Given the description of an element on the screen output the (x, y) to click on. 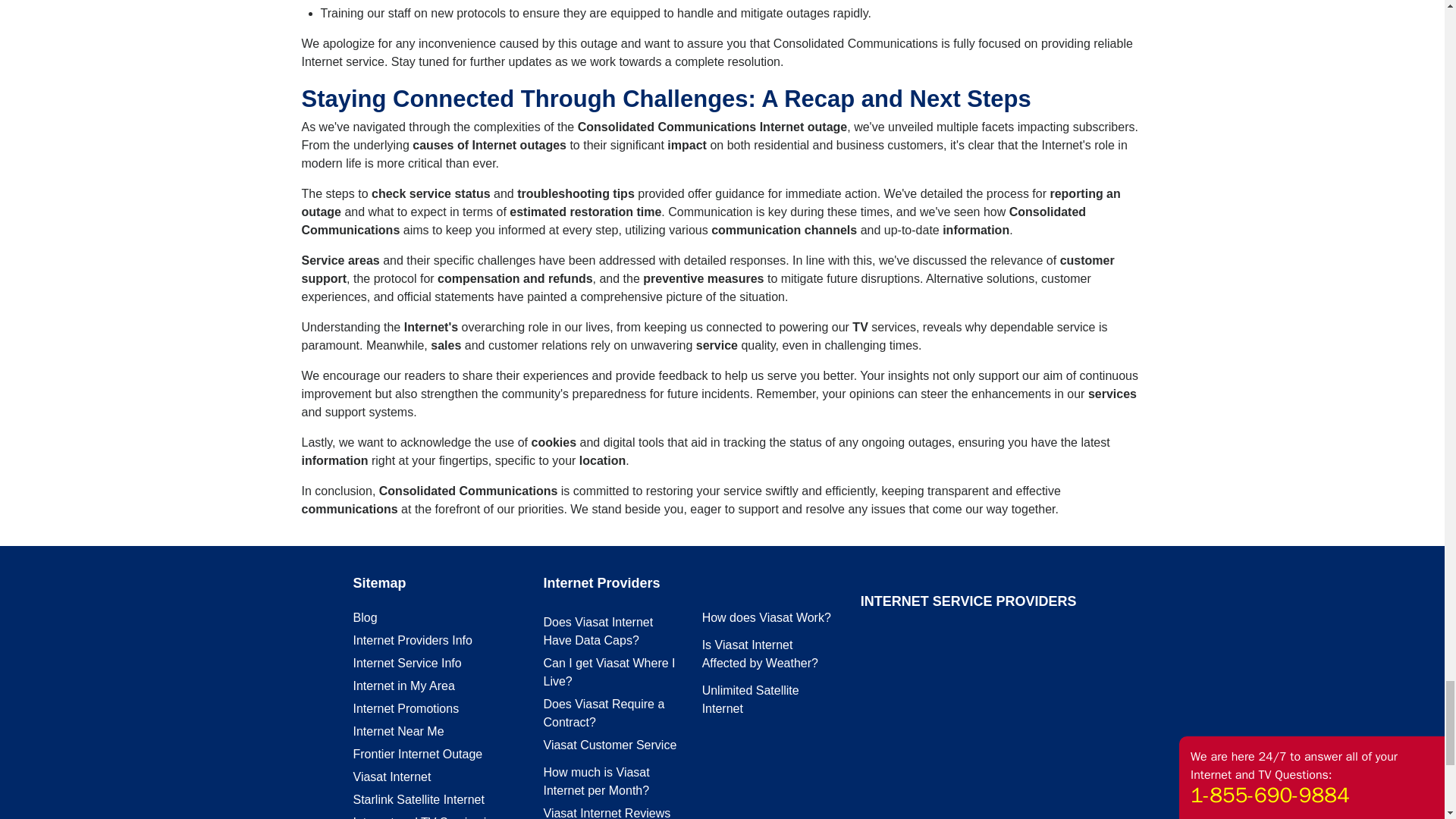
Blog (365, 617)
Does Viasat Require a Contract? (603, 712)
Does Viasat Internet Have Data Caps? (597, 631)
Internet and TV Service in Your Area (423, 817)
Internet in My Area (403, 685)
Can I get Viasat Where I Live? (609, 671)
Internet Service Info (407, 662)
Unlimited Satellite Internet (750, 698)
How much is Viasat Internet per Month? (596, 780)
Is Viasat Internet Affected by Weather? (759, 653)
Starlink Satellite Internet (418, 799)
Viasat Internet (391, 776)
Internet Near Me (398, 730)
Frontier Internet Outage (418, 753)
Internet Providers Info (412, 640)
